Given the description of an element on the screen output the (x, y) to click on. 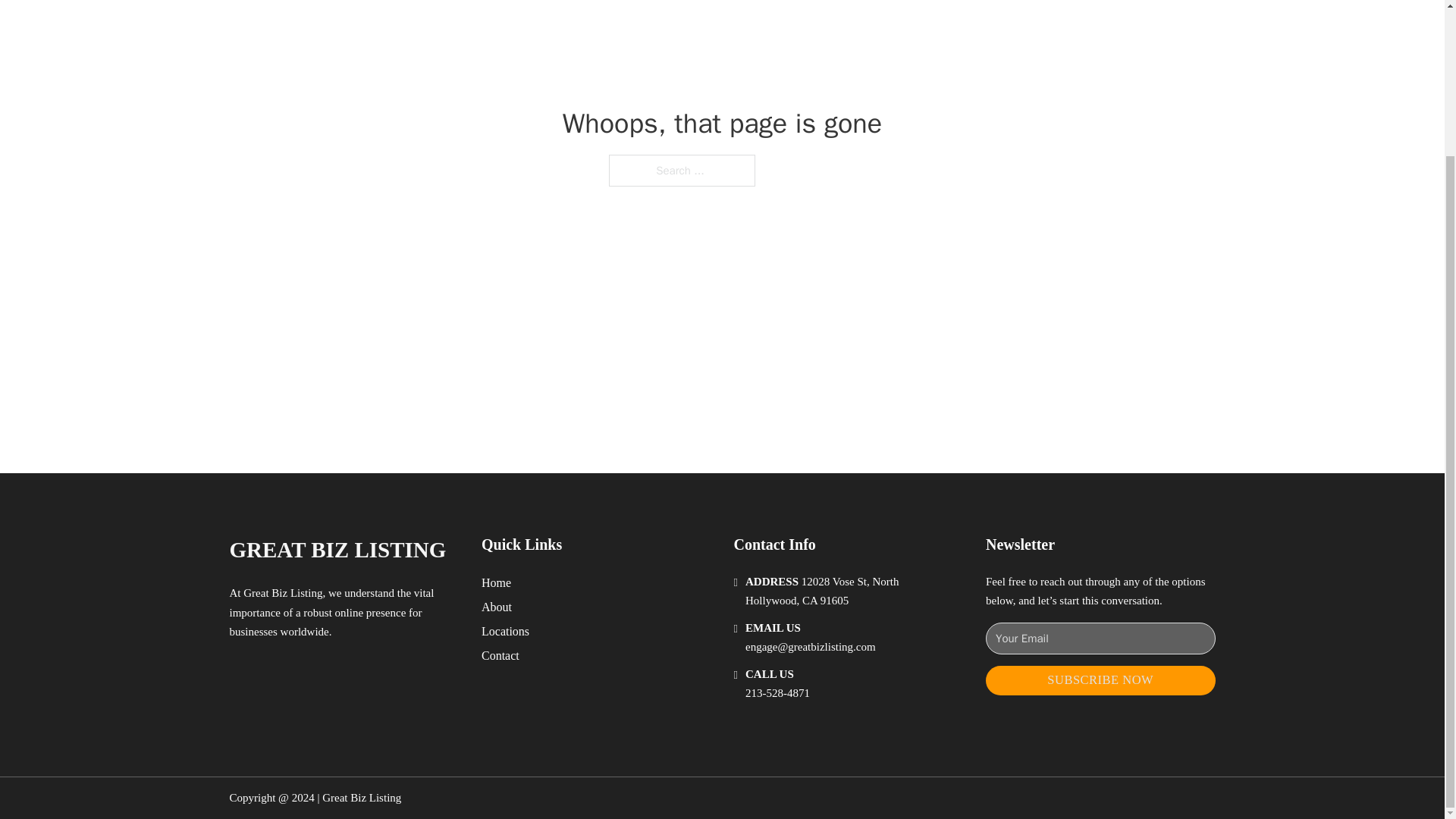
213-528-4871 (777, 693)
About (496, 607)
Contact (500, 655)
Home (496, 582)
GREAT BIZ LISTING (336, 549)
Locations (505, 630)
SUBSCRIBE NOW (1100, 680)
